Given the description of an element on the screen output the (x, y) to click on. 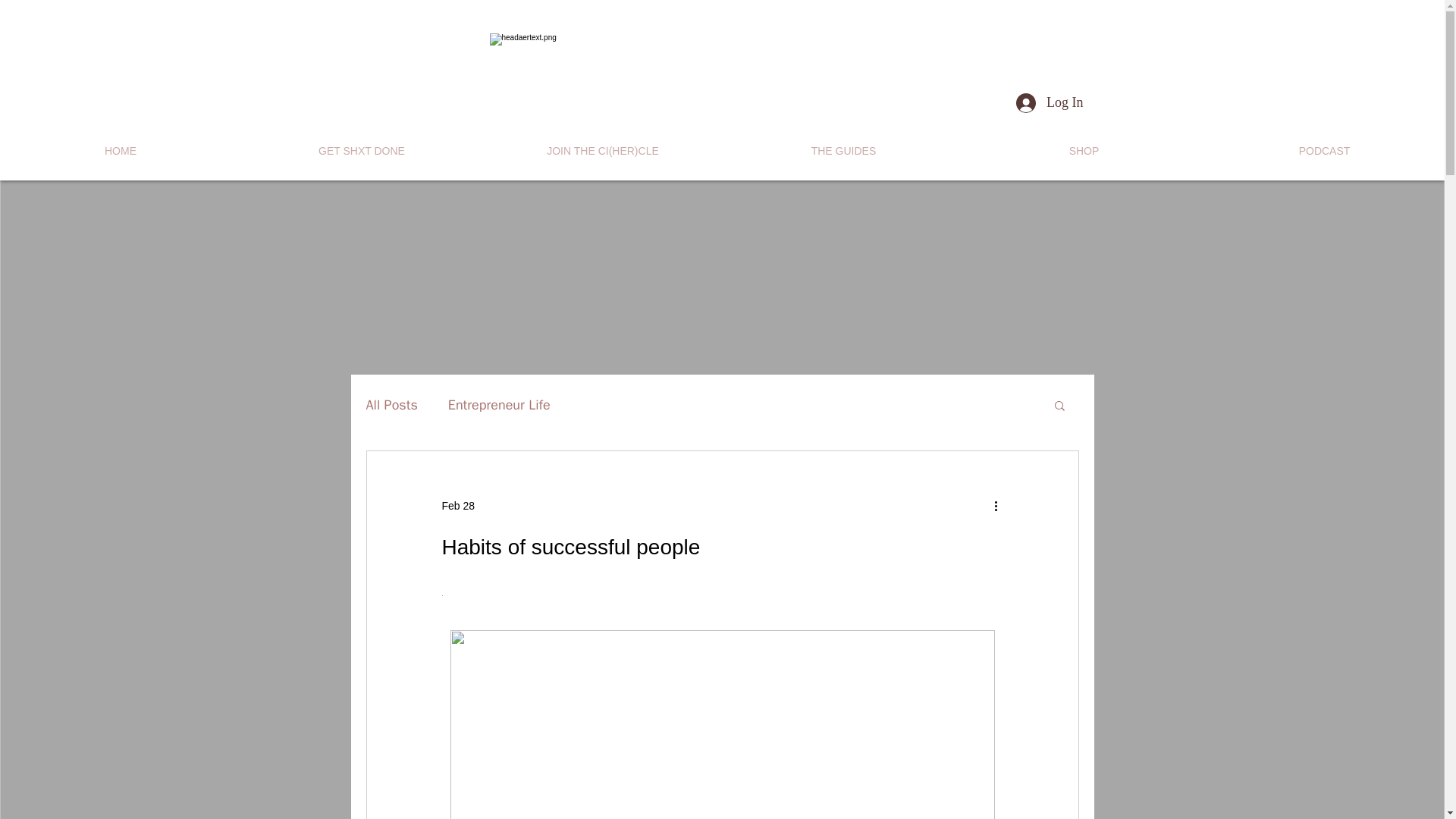
SHOP (1083, 150)
All Posts (390, 404)
THE GUIDES (843, 150)
HOME (120, 150)
GET SHXT DONE (361, 150)
Entrepreneur Life (499, 404)
Log In (1050, 102)
Feb 28 (457, 504)
